Given the description of an element on the screen output the (x, y) to click on. 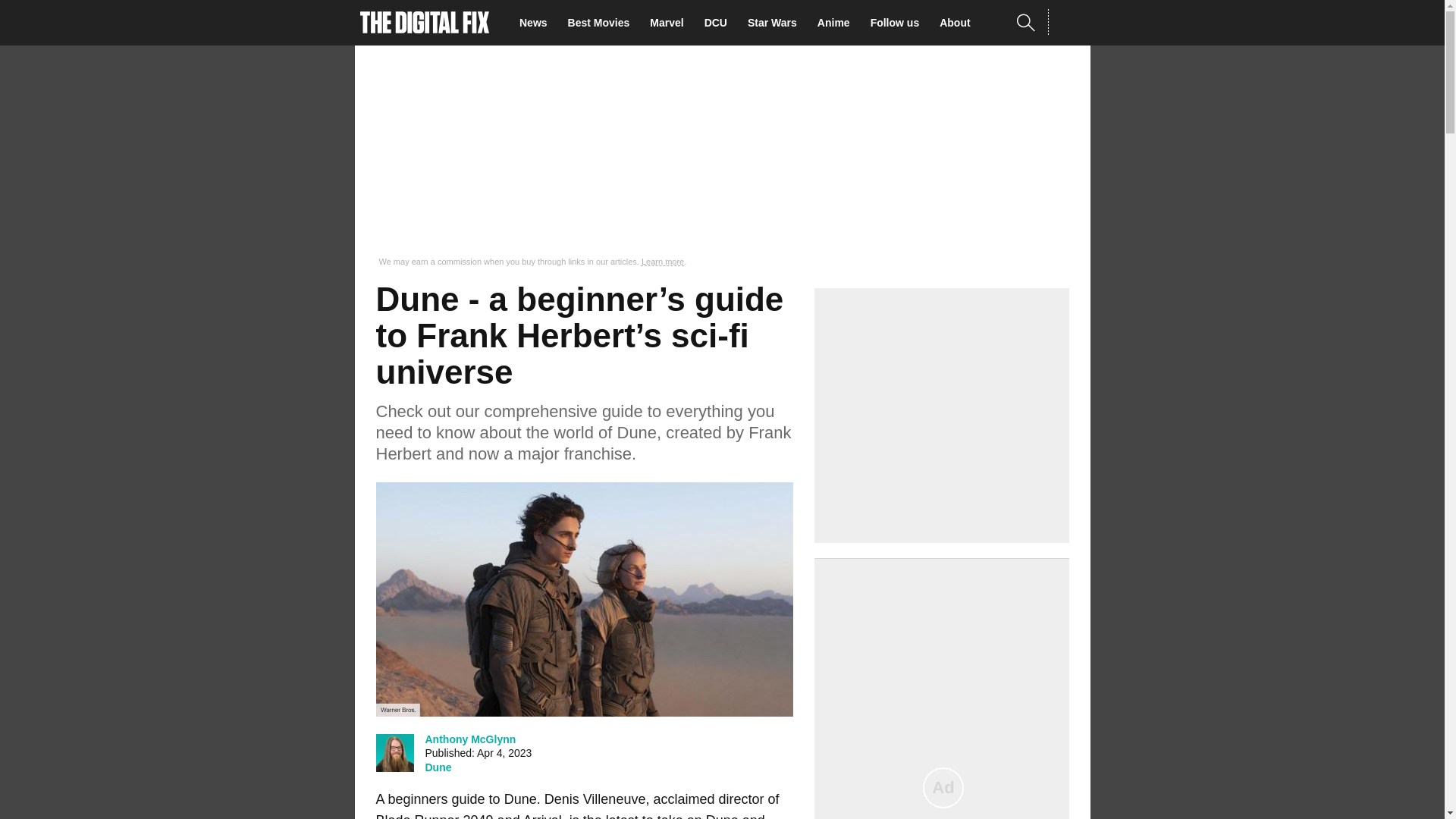
Follow us (899, 22)
TV and Movie News (537, 22)
Learn more (663, 261)
Network N Media (1068, 22)
Star Wars (777, 22)
About (958, 22)
Anime (837, 22)
Marvel Cinematic Universe News (671, 22)
Marvel (671, 22)
DC Comics Universe News (720, 22)
Star Wars News (777, 22)
Best Movies (603, 22)
DCU (720, 22)
Dune (438, 767)
Anime News (837, 22)
